Given the description of an element on the screen output the (x, y) to click on. 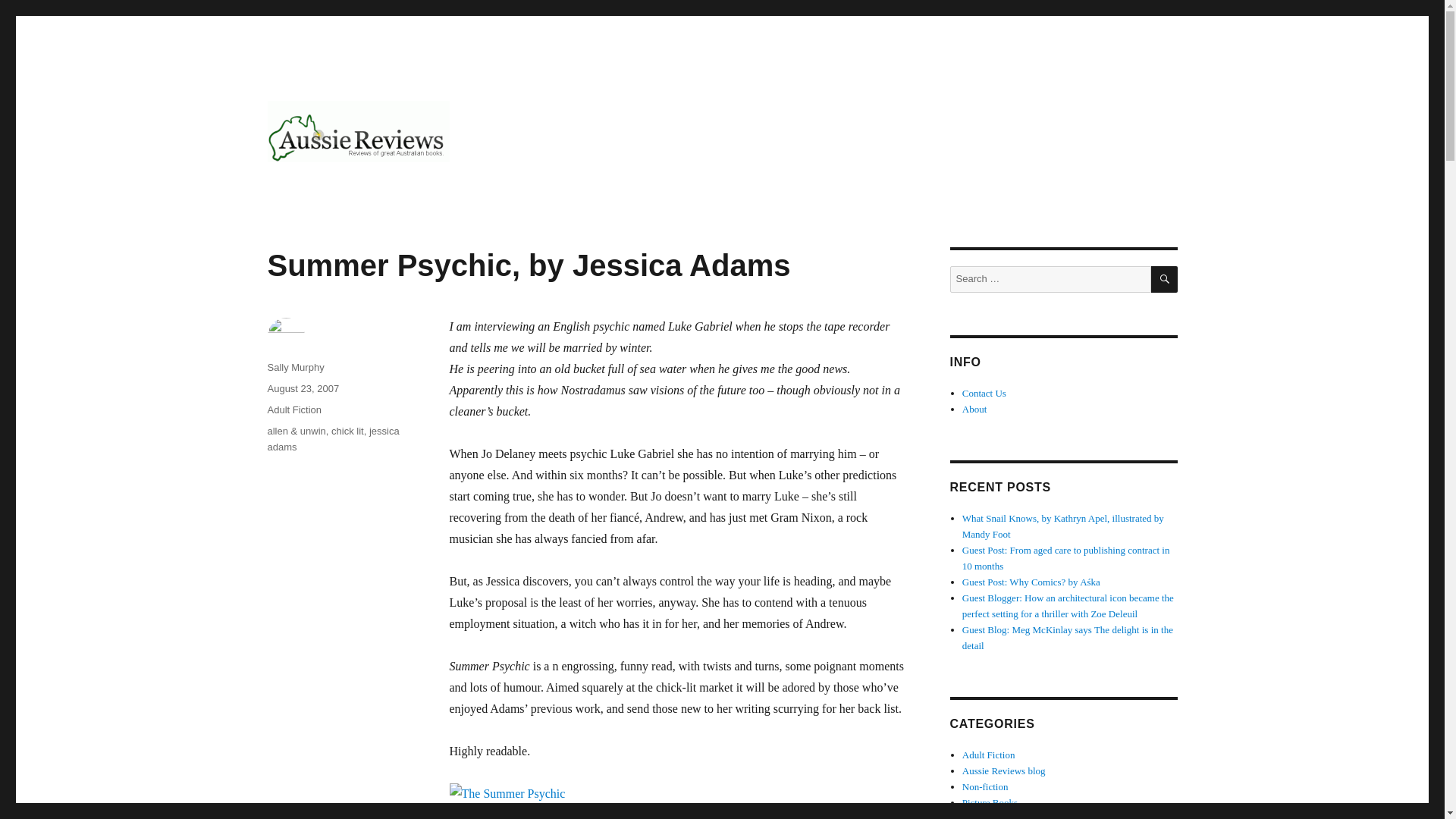
What Snail Knows, by Kathryn Apel, illustrated by Mandy Foot (1062, 525)
August 23, 2007 (302, 388)
Picture Books (989, 802)
chick lit (347, 430)
Non-fiction (985, 786)
Adult Fiction (293, 409)
About (974, 408)
jessica adams (332, 438)
